Given the description of an element on the screen output the (x, y) to click on. 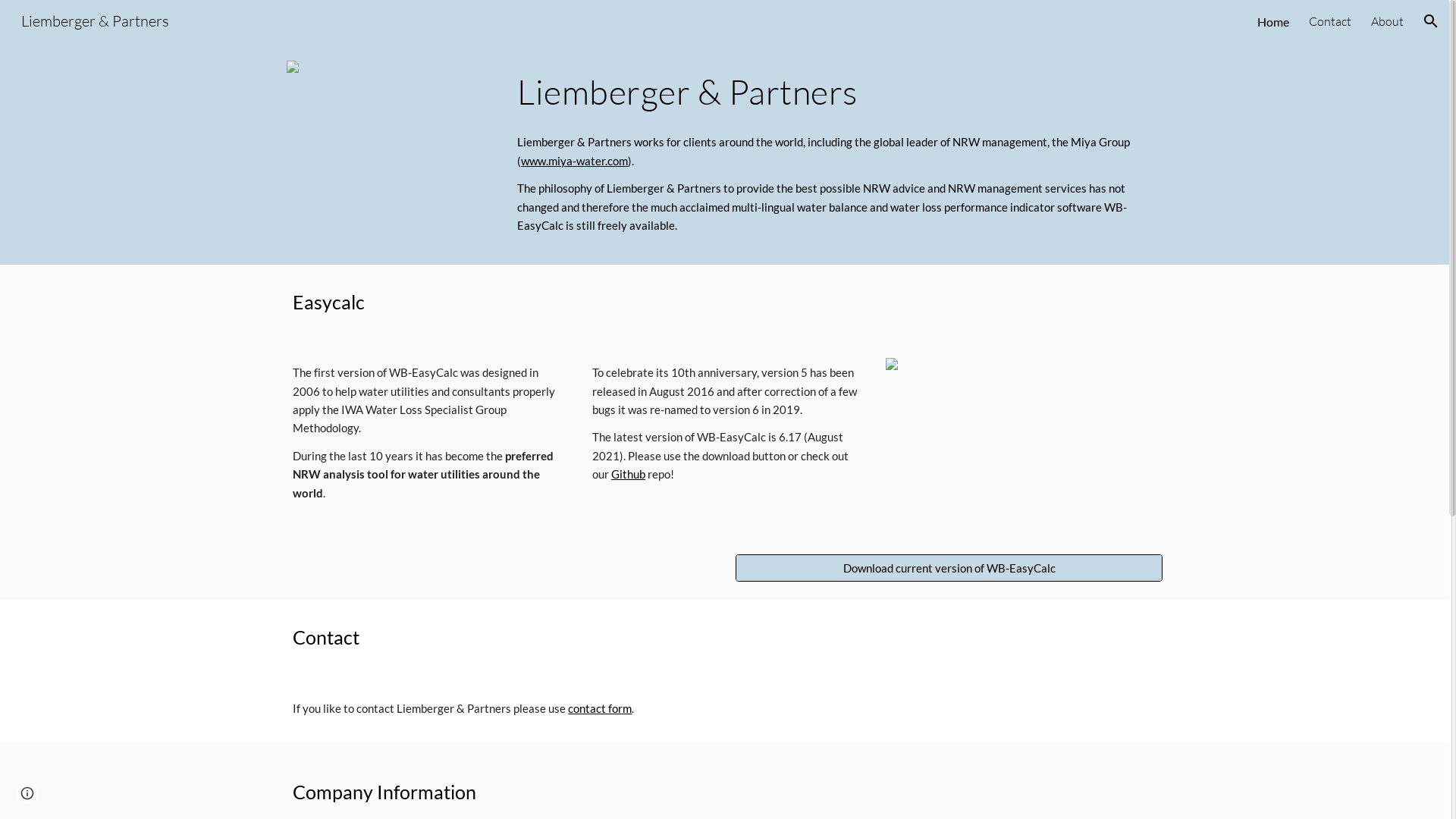
contact form Element type: text (599, 708)
Github Element type: text (628, 473)
Liemberger & Partners Element type: text (95, 18)
Home Element type: text (1273, 20)
About Element type: text (1387, 20)
www.miya-water.com Element type: text (573, 160)
Contact Element type: text (1329, 20)
Download current version of WB-EasyCalc Element type: text (948, 567)
